Given the description of an element on the screen output the (x, y) to click on. 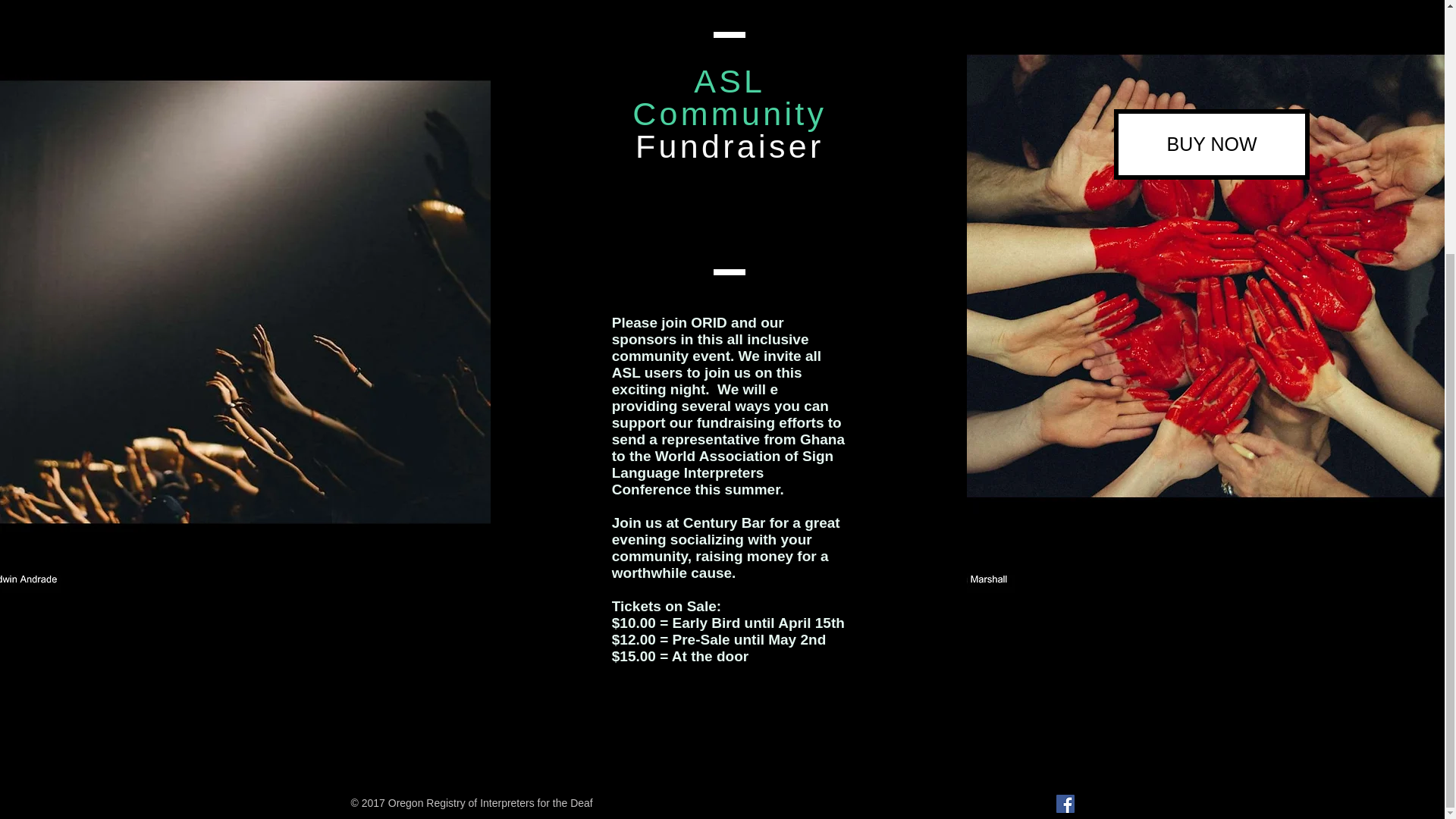
BUY NOW (1210, 143)
